Given the description of an element on the screen output the (x, y) to click on. 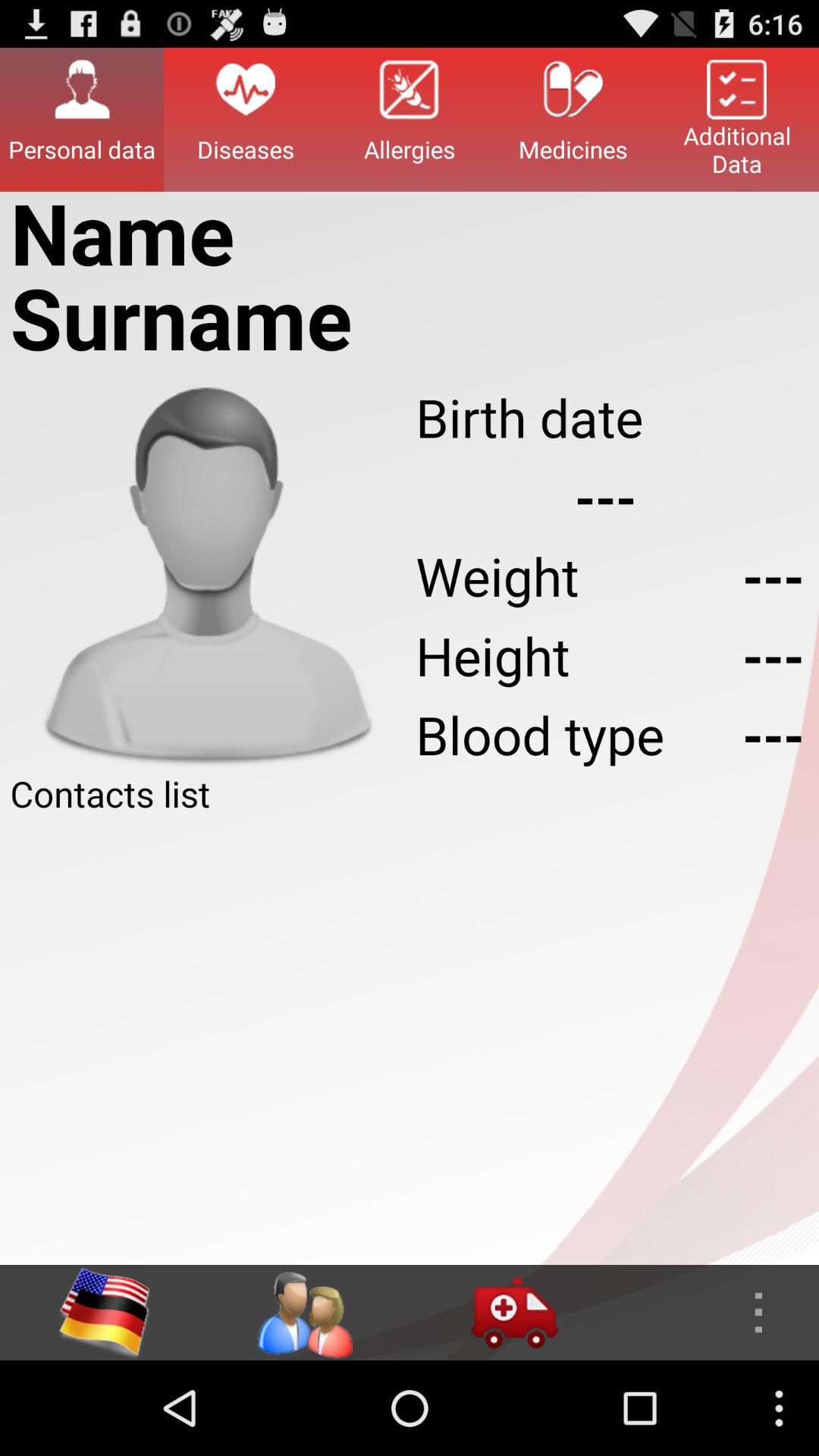
open app below contacts list app (409, 1041)
